Given the description of an element on the screen output the (x, y) to click on. 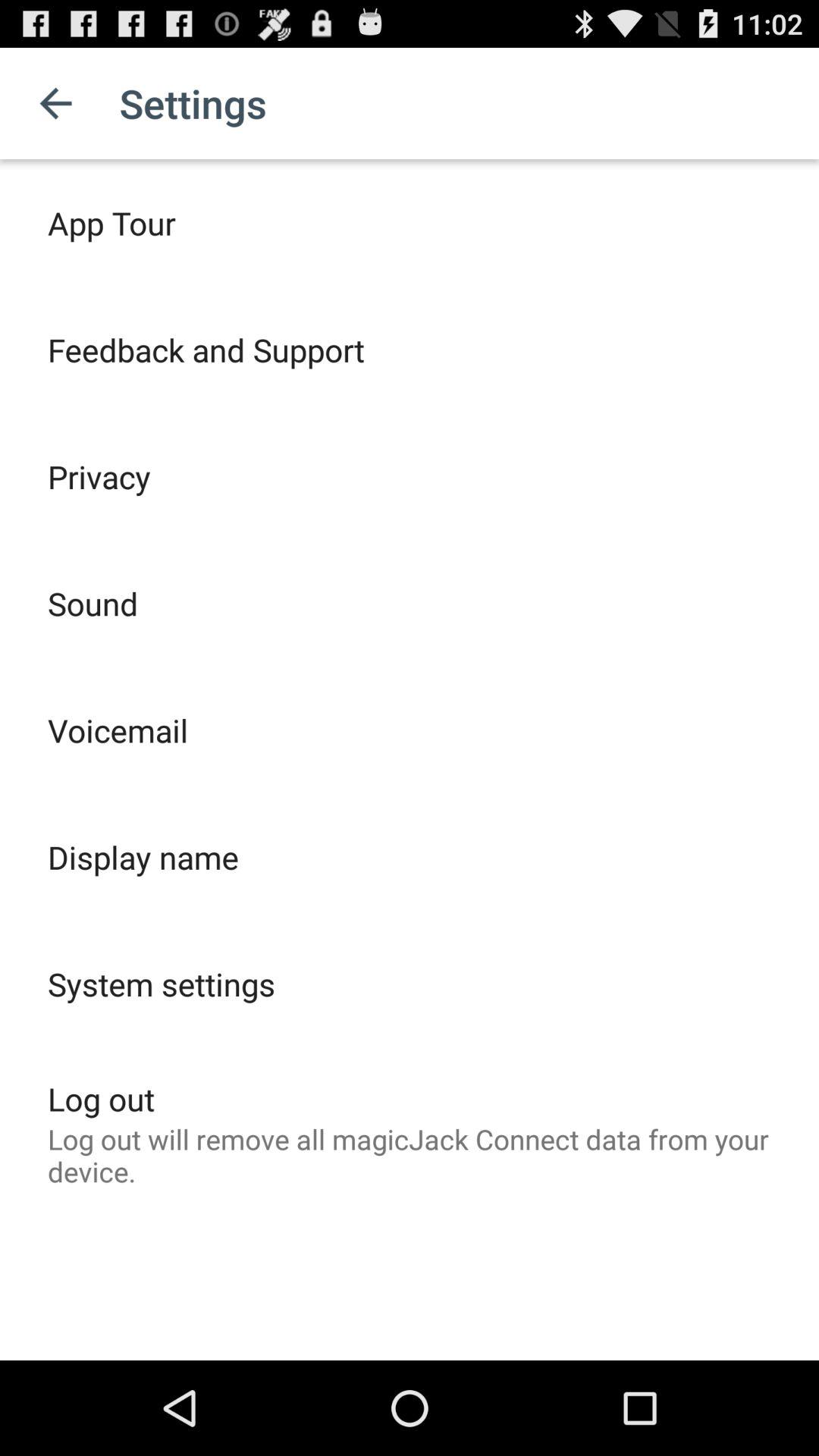
swipe until system settings icon (161, 983)
